Given the description of an element on the screen output the (x, y) to click on. 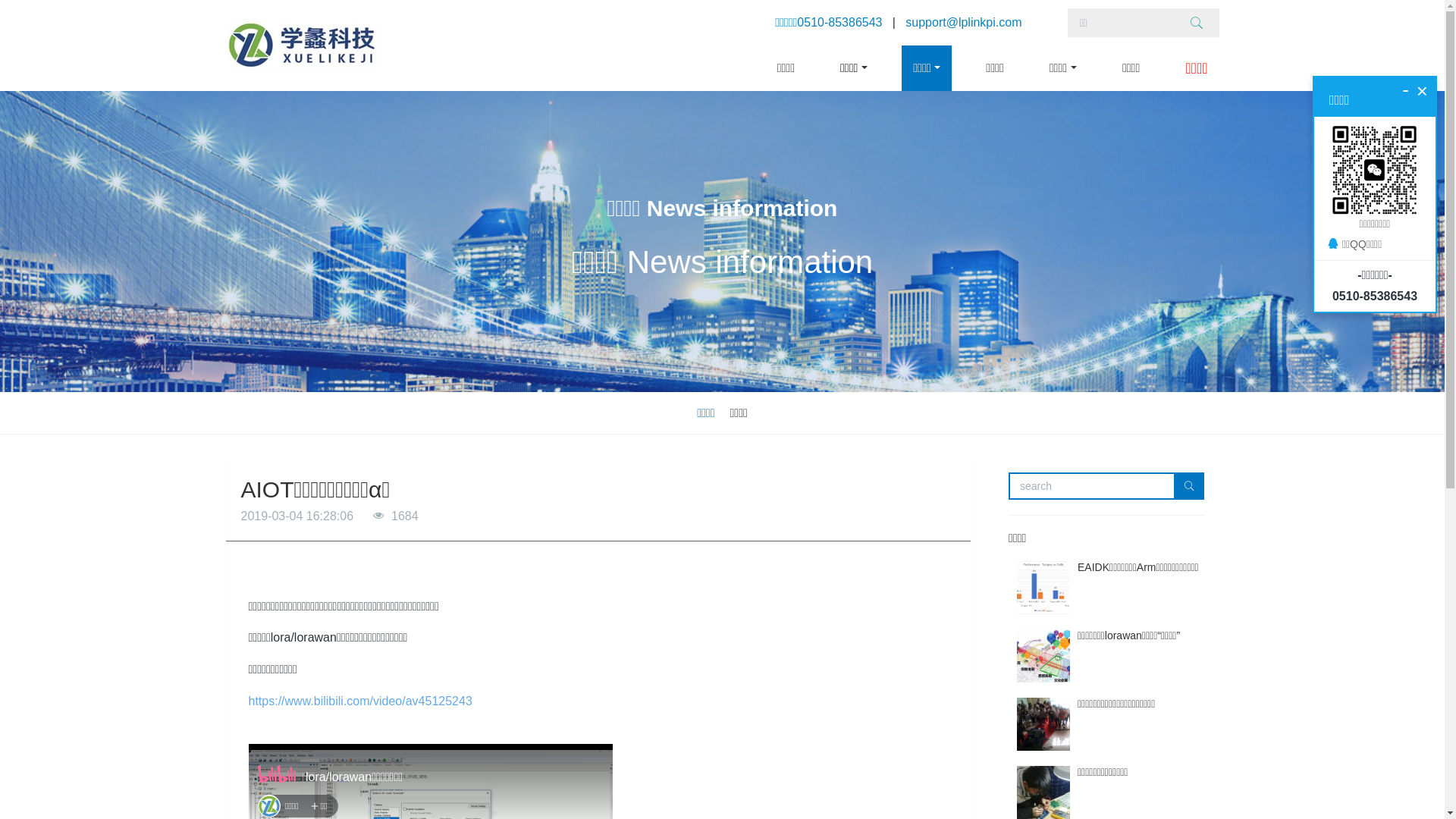
- Element type: text (1405, 89)
https://www.bilibili.com/video/av45125243 Element type: text (360, 700)
